Given the description of an element on the screen output the (x, y) to click on. 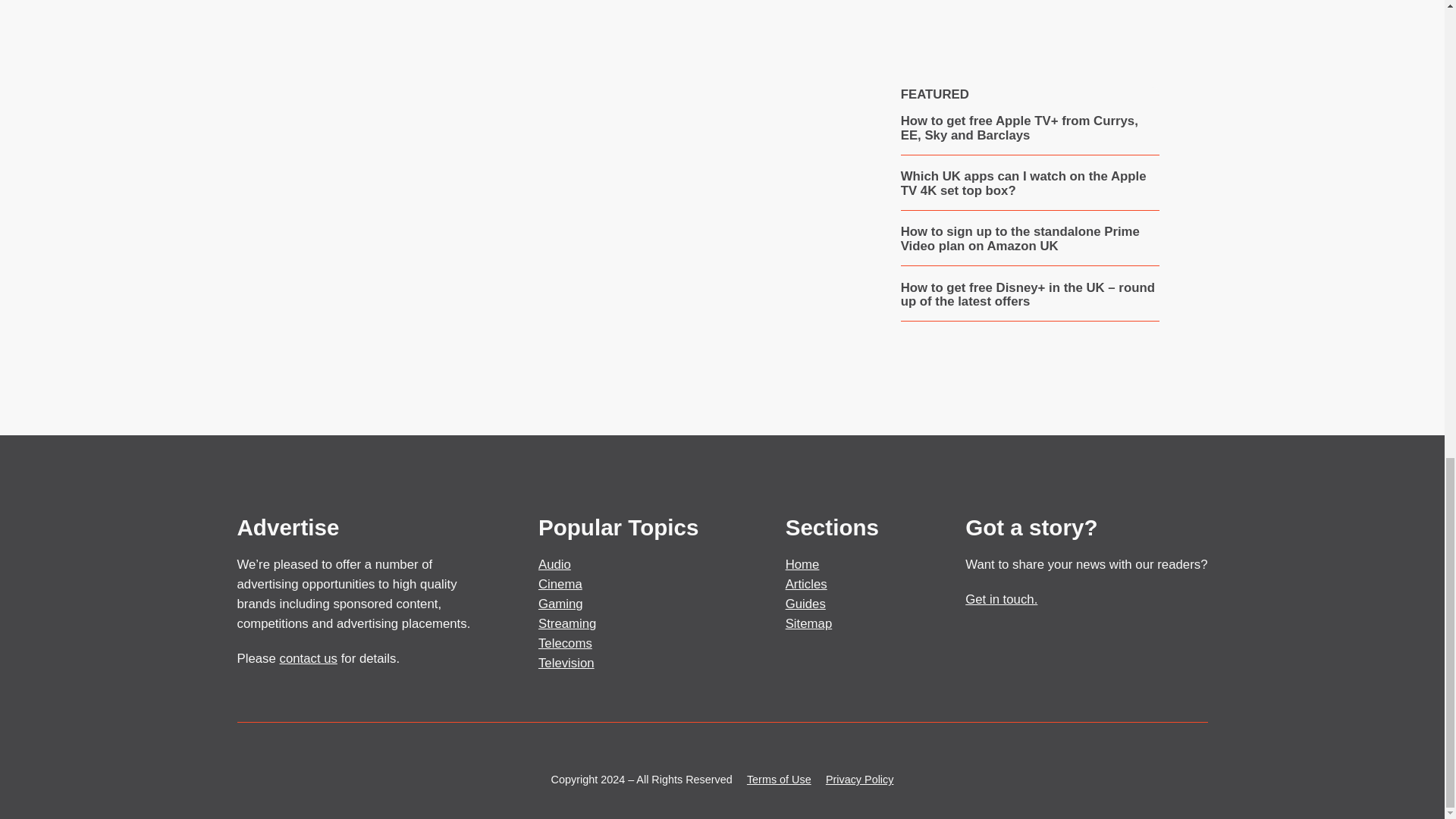
Sitemap (809, 623)
Streaming (566, 623)
Television (566, 663)
Cinema (560, 584)
Which UK apps can I watch on the Apple TV 4K set top box? (1029, 183)
Telecoms (565, 643)
contact us (308, 658)
Gaming (560, 603)
Articles (806, 584)
Audio (554, 564)
